Given the description of an element on the screen output the (x, y) to click on. 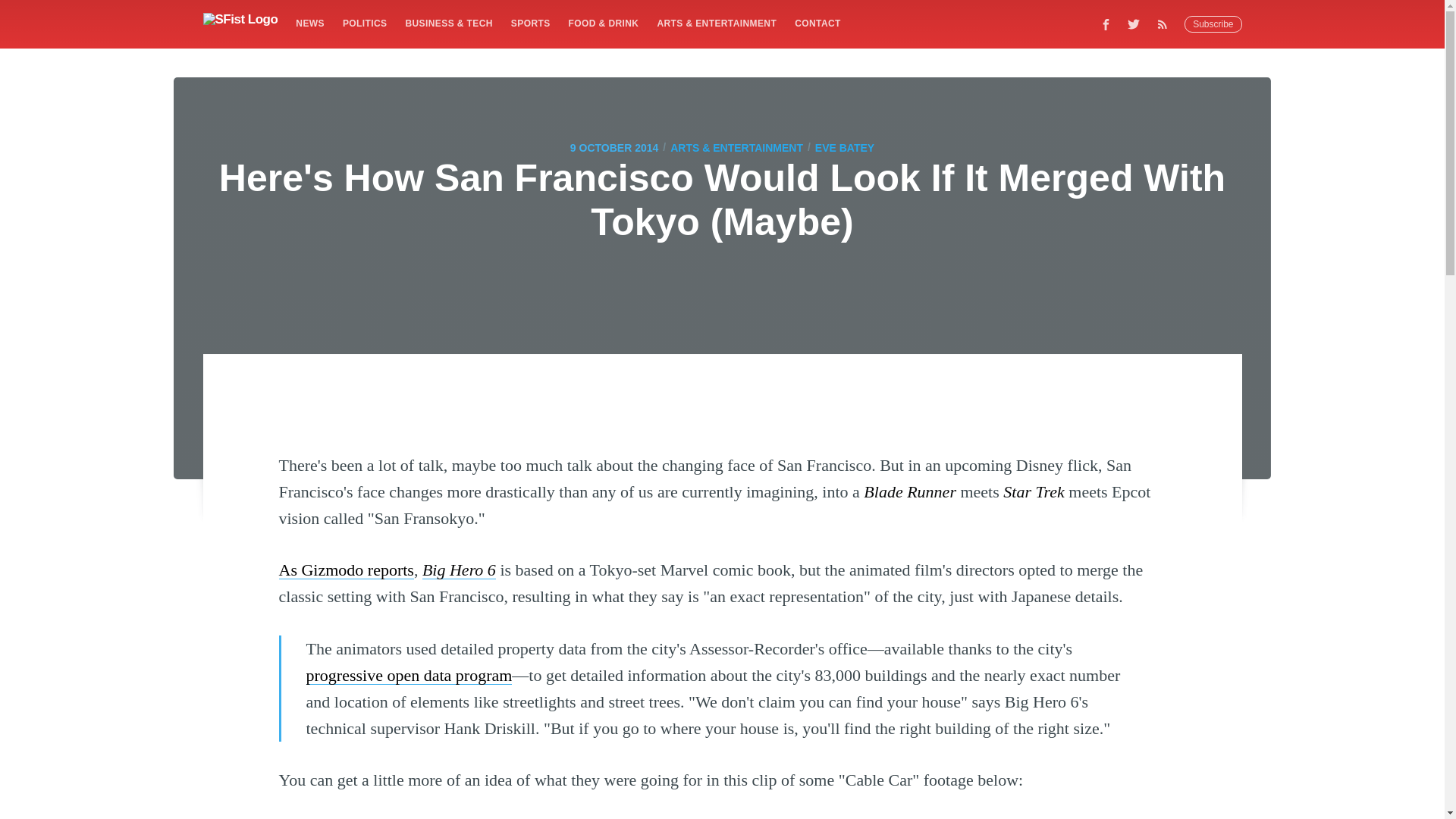
Twitter (1133, 23)
Facebook (1106, 23)
Big Hero 6 (459, 569)
CONTACT (818, 23)
POLITICS (364, 23)
EVE BATEY (845, 147)
RSS (1166, 23)
Subscribe (1213, 23)
As Gizmodo reports (346, 569)
progressive open data program (408, 674)
